Given the description of an element on the screen output the (x, y) to click on. 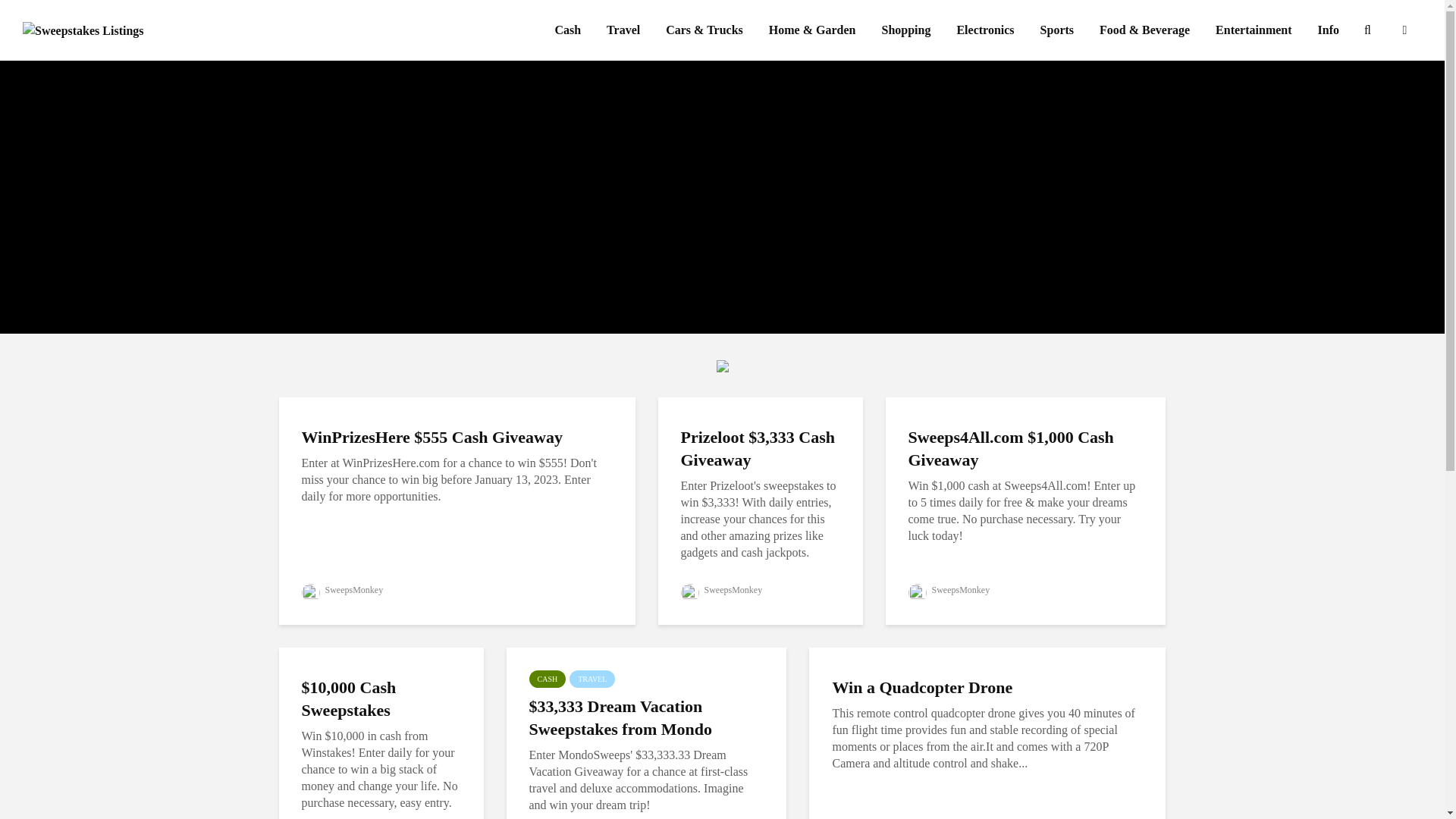
Info (1328, 30)
Entertainment (1253, 30)
Shopping (906, 30)
Cash (567, 30)
Sports (1056, 30)
Electronics (984, 30)
Travel (622, 30)
